Given the description of an element on the screen output the (x, y) to click on. 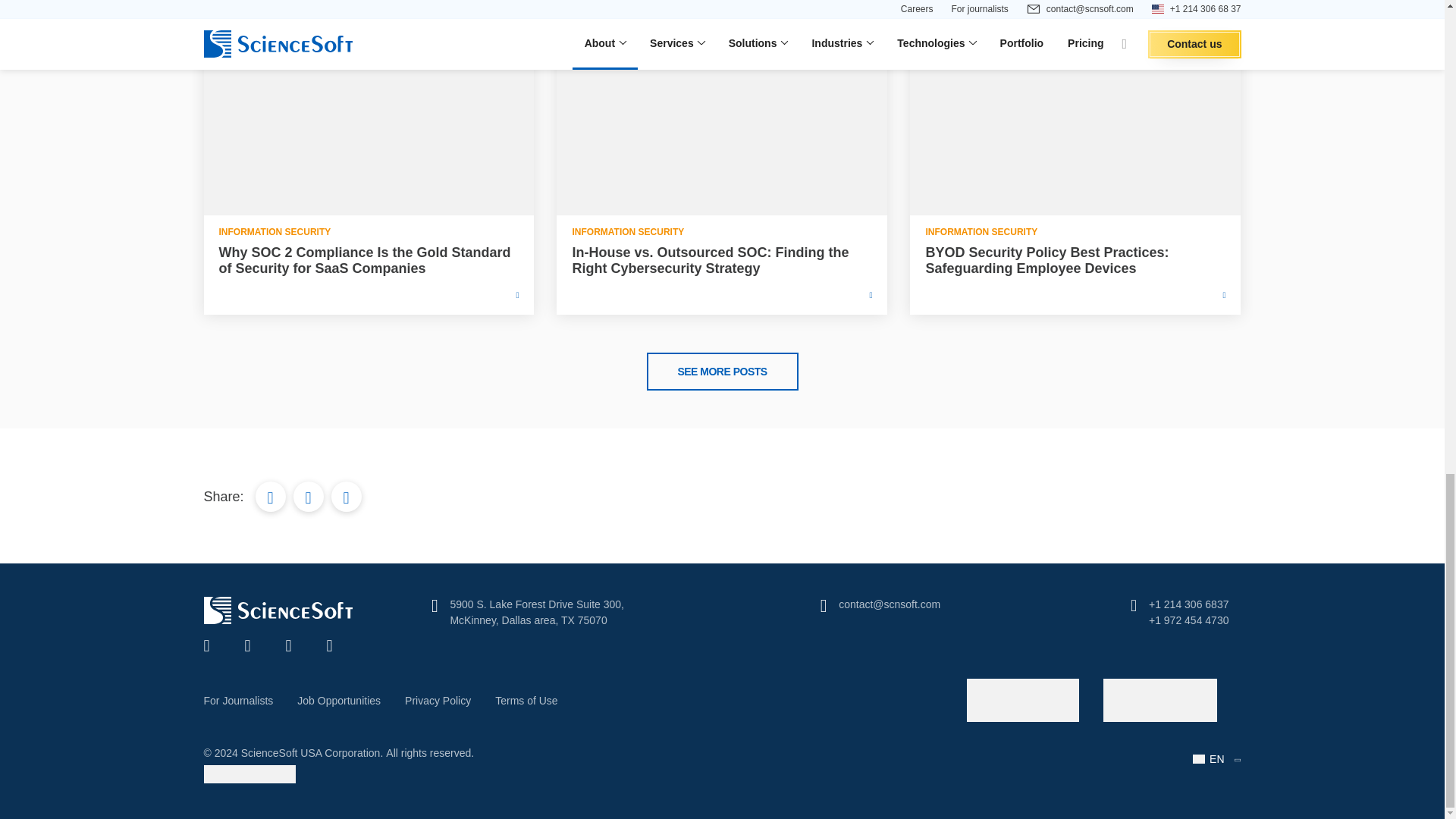
DMCA.com Protection Status (249, 779)
